Given the description of an element on the screen output the (x, y) to click on. 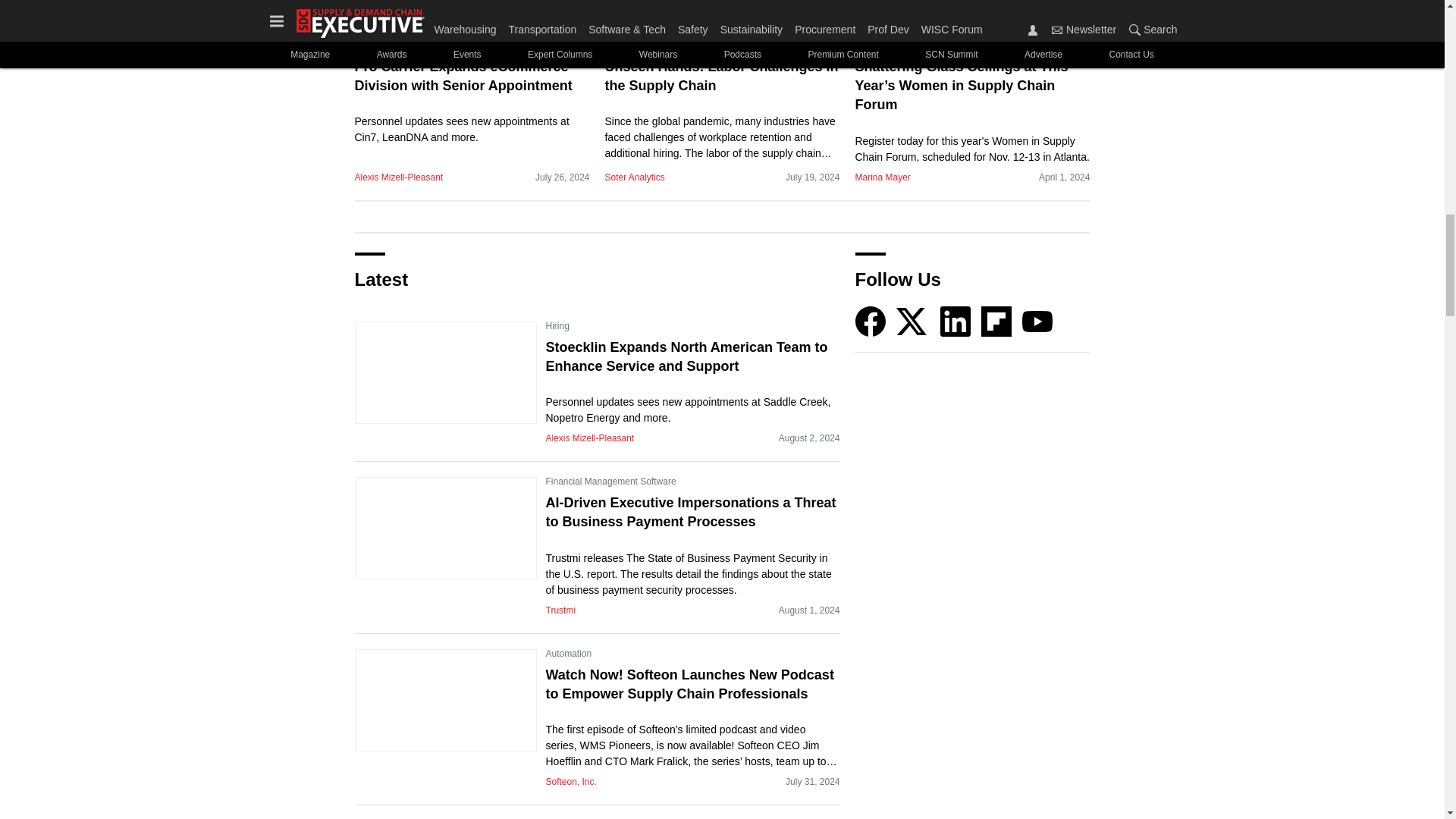
Facebook icon (870, 321)
LinkedIn icon (955, 321)
YouTube icon (1037, 321)
Twitter X icon (911, 321)
Flipboard icon (996, 321)
